Given the description of an element on the screen output the (x, y) to click on. 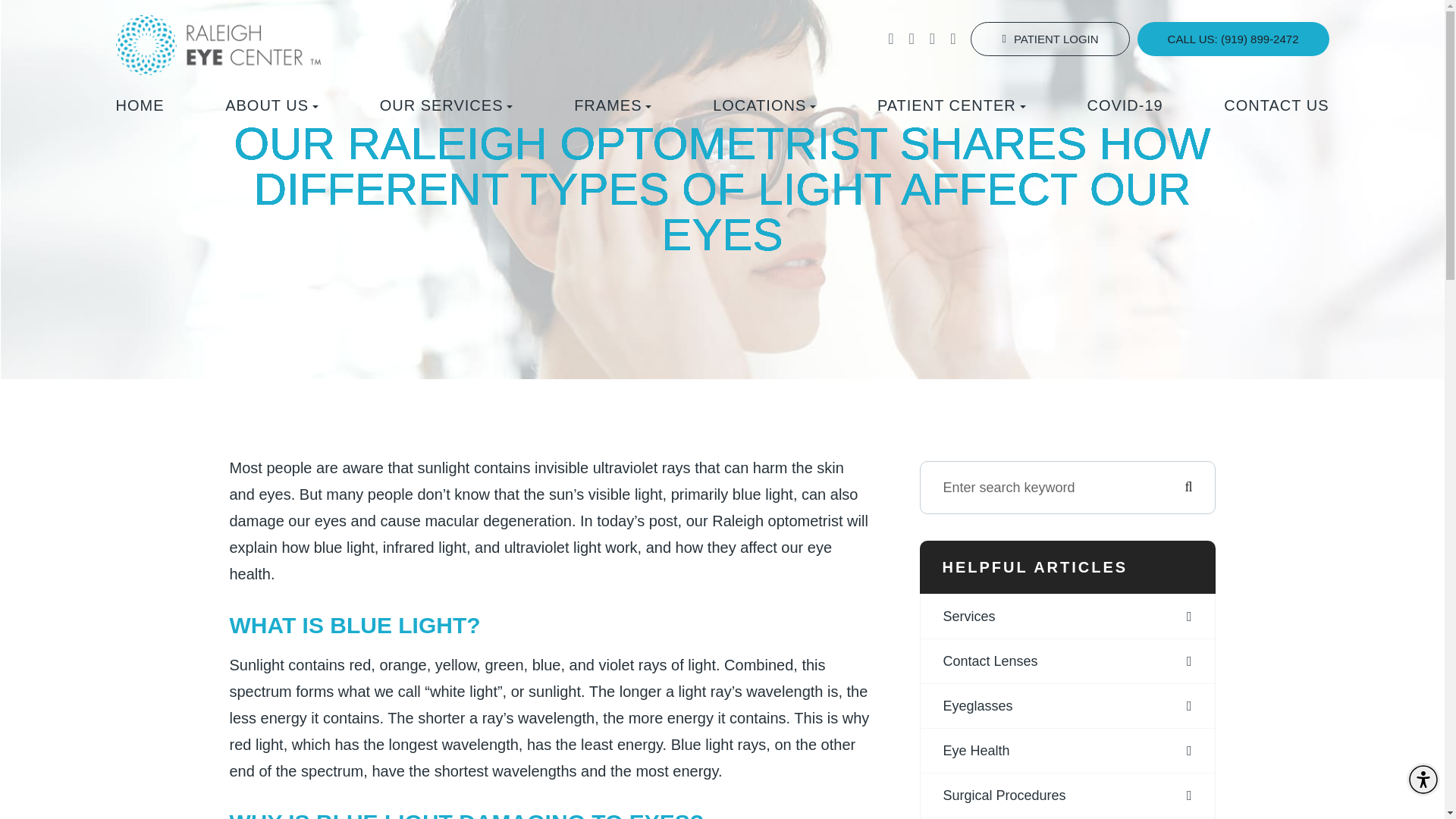
Accessibility Menu (1422, 779)
